Given the description of an element on the screen output the (x, y) to click on. 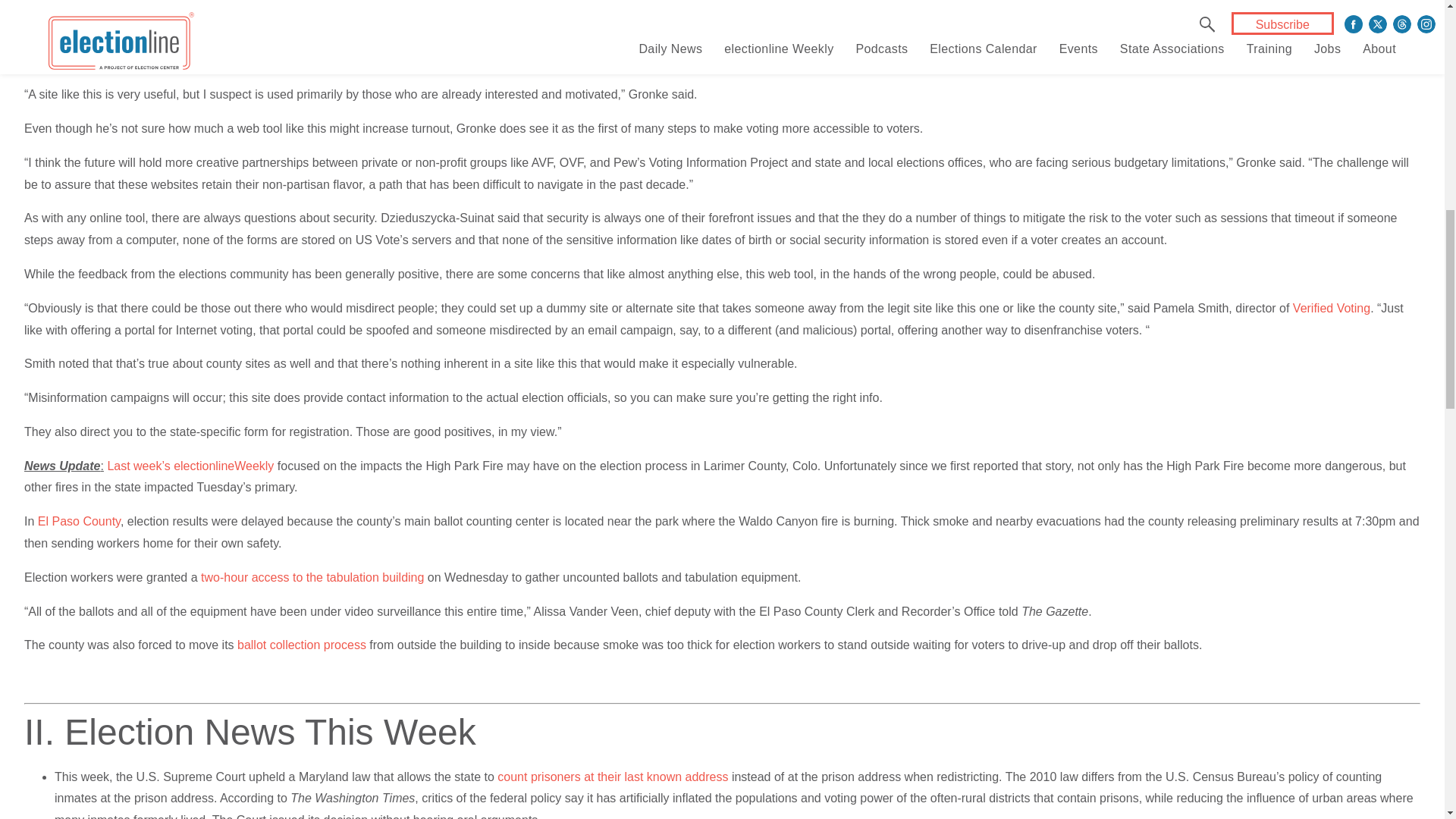
ballot collection process (301, 644)
count prisoners at their last known address (612, 776)
El Paso County (78, 521)
Early Voting Information Center (714, 38)
two-hour access to the tabulation building (311, 576)
Verified Voting (1331, 308)
